Given the description of an element on the screen output the (x, y) to click on. 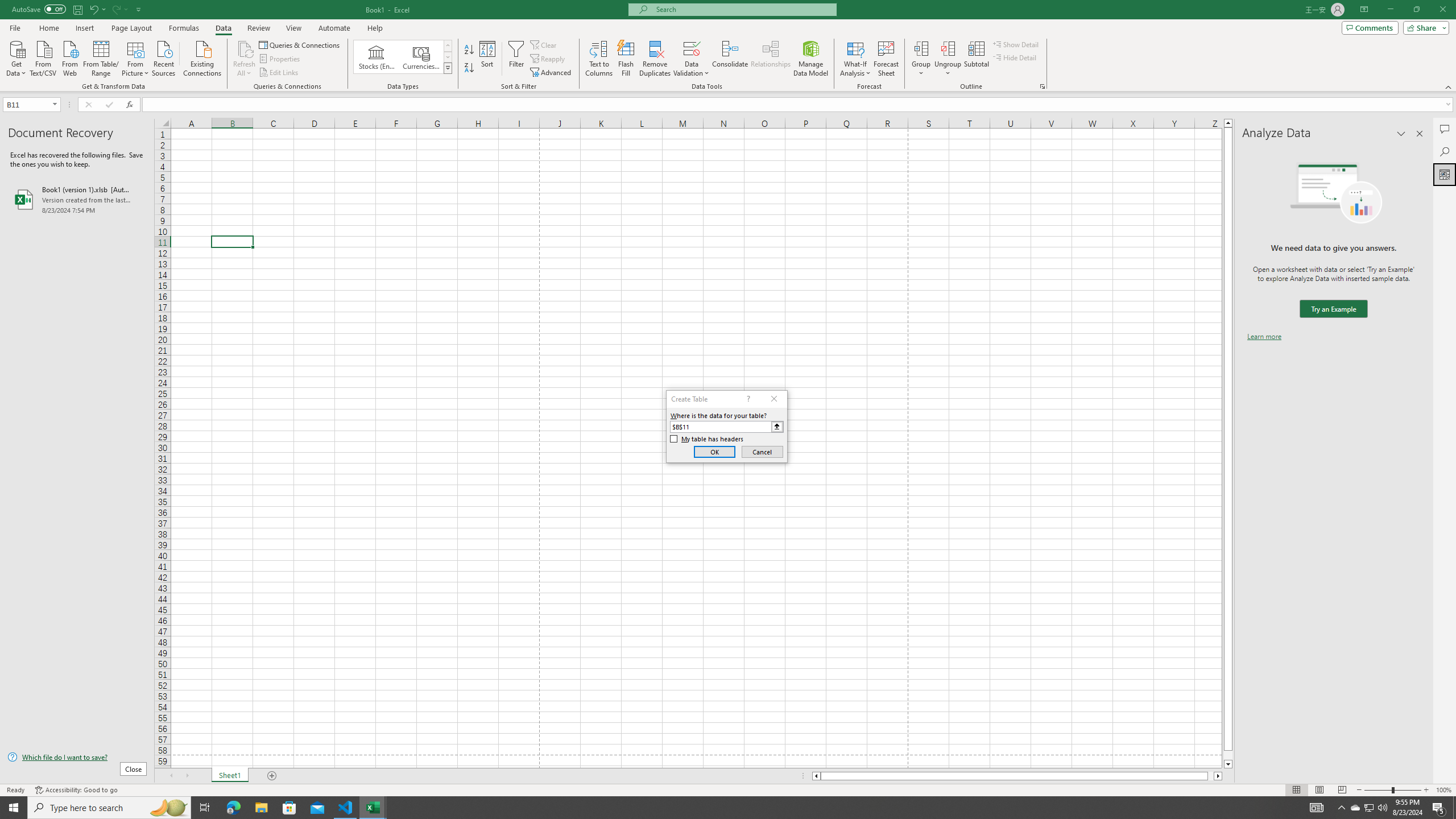
From Picture (135, 57)
